Given the description of an element on the screen output the (x, y) to click on. 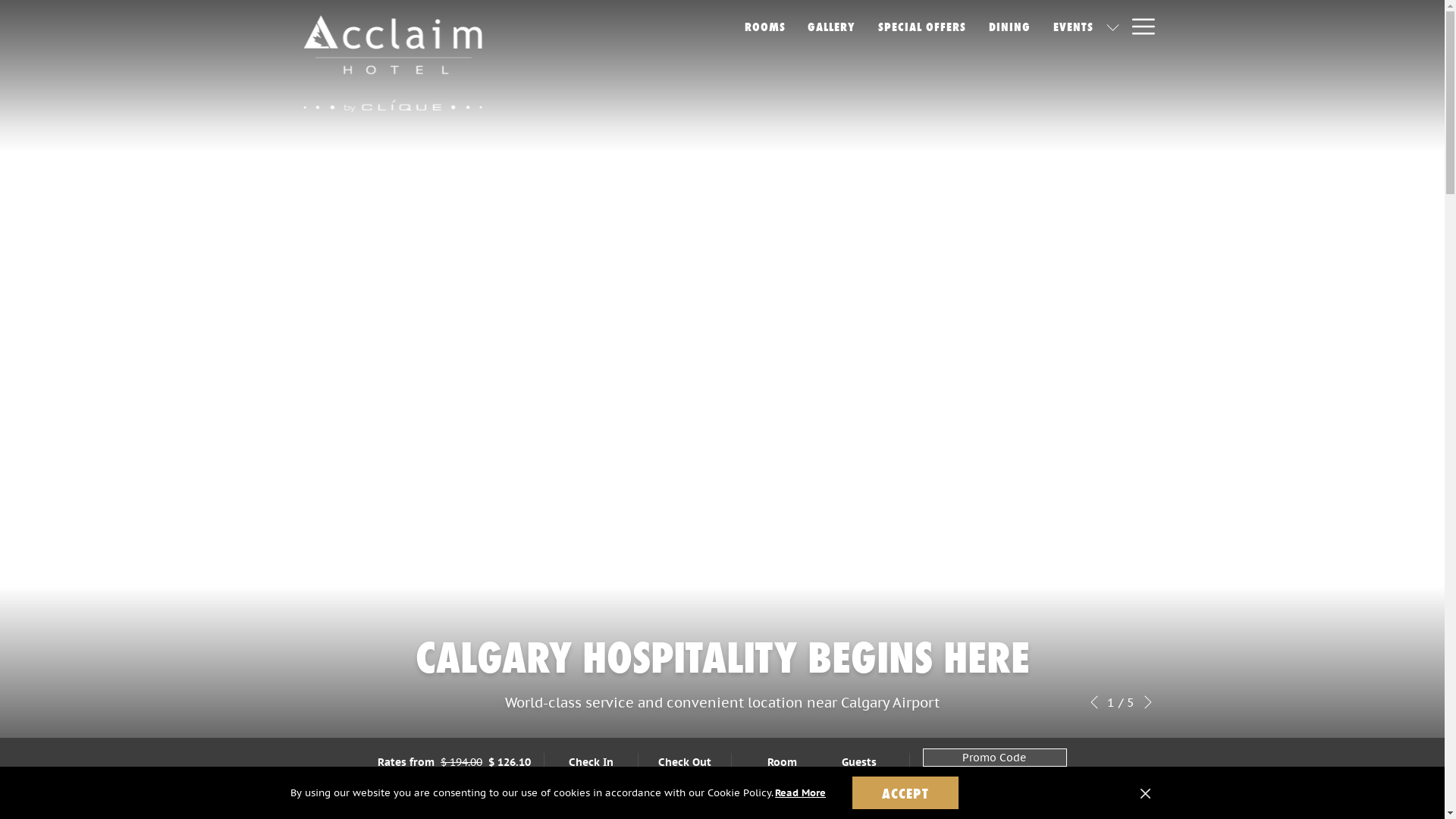
BOOK NOW
OPENS IN A NEW TAB Element type: text (994, 795)
ROOMS Element type: text (765, 26)
DINING Element type: text (1009, 26)
Back to the homepage Element type: hover (391, 63)
GALLERY Element type: text (831, 26)
Next Element type: text (1147, 702)
Rates from  $ 194.00  $ 126.10 Element type: text (453, 761)
More link
Menu Element type: text (1137, 26)
Previous Element type: text (1094, 702)
Read More
(opens in a new tab) Element type: text (800, 792)
SPECIAL OFFERS Element type: text (921, 26)
ACCEPT Element type: text (905, 792)
